Given the description of an element on the screen output the (x, y) to click on. 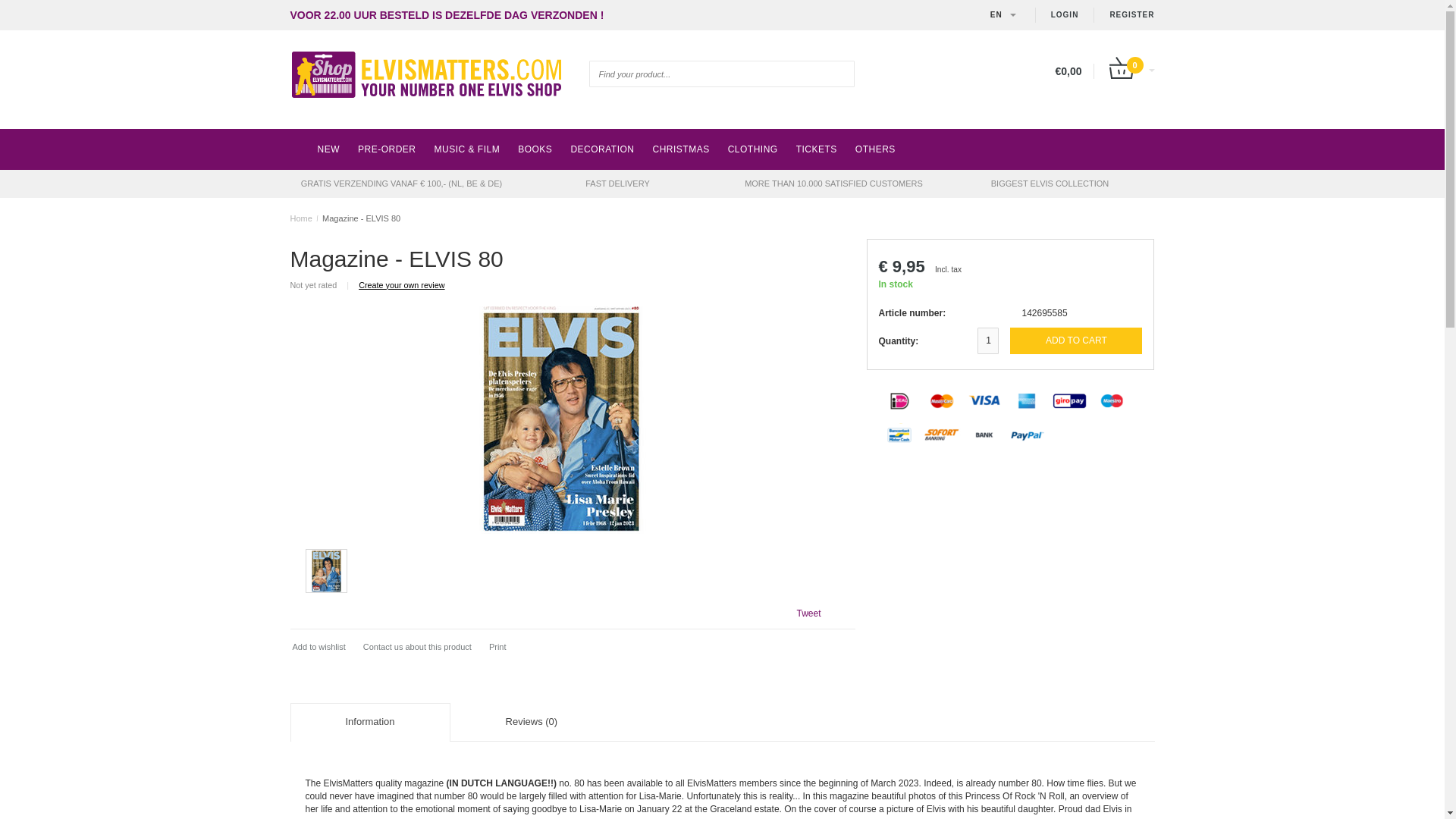
LOGIN (1064, 14)
TICKETS (816, 148)
NEW (328, 148)
OTHERS (874, 148)
login (1064, 14)
My account (1131, 14)
CHRISTMAS (680, 148)
PRE-ORDER (387, 148)
REGISTER (1131, 14)
BOOKS (534, 148)
VOOR 22.00 UUR BESTELD IS DEZELFDE DAG VERZONDEN ! (446, 14)
Home (300, 217)
DECORATION (601, 148)
CLOTHING (753, 148)
